Given the description of an element on the screen output the (x, y) to click on. 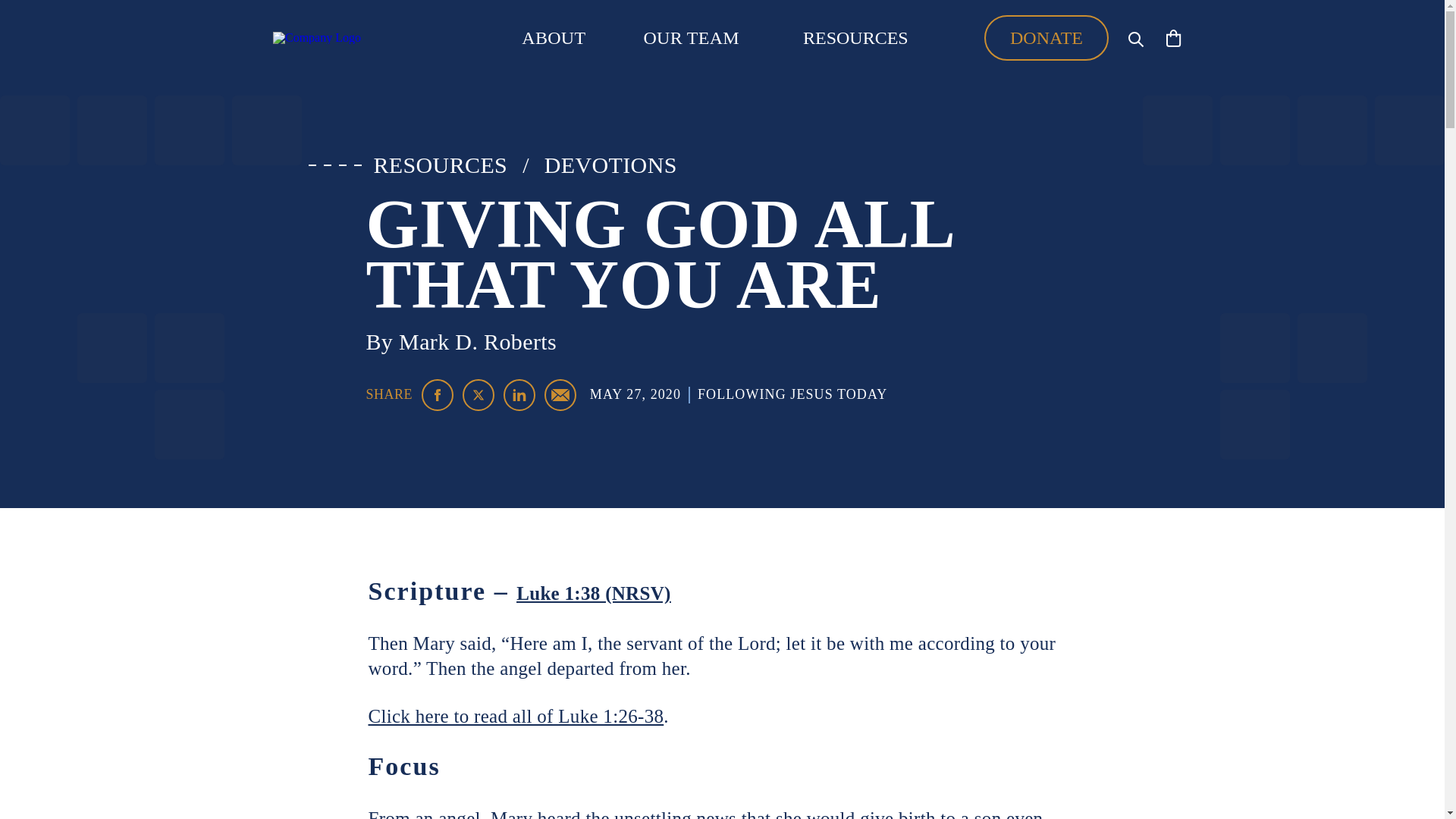
RESOURCES (855, 37)
Mark D. Roberts (477, 341)
ABOUT (552, 37)
DONATE (1046, 37)
RESOURCES (439, 165)
DEVOTIONS (610, 165)
De Pree Center (356, 37)
FOLLOWING JESUS TODAY (791, 394)
OUR TEAM (691, 37)
Click here to read all of Luke 1:26-38 (515, 715)
